Given the description of an element on the screen output the (x, y) to click on. 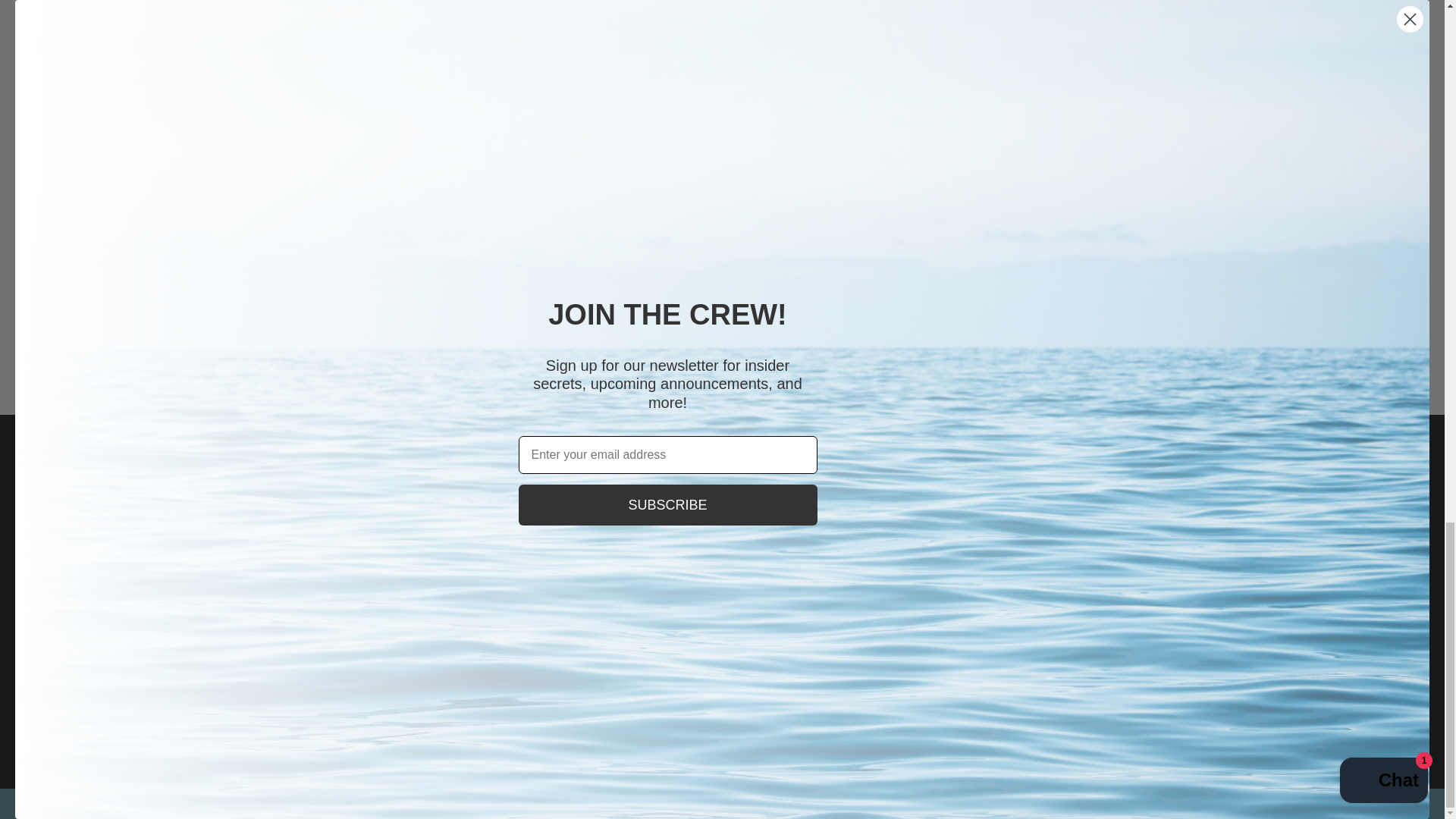
Google Pay (1034, 780)
Discover (994, 780)
Visa (1150, 780)
Amazon (877, 780)
Mastercard (1072, 780)
Apple Pay (955, 780)
American Express (916, 780)
Shop Pay (1112, 780)
